Given the description of an element on the screen output the (x, y) to click on. 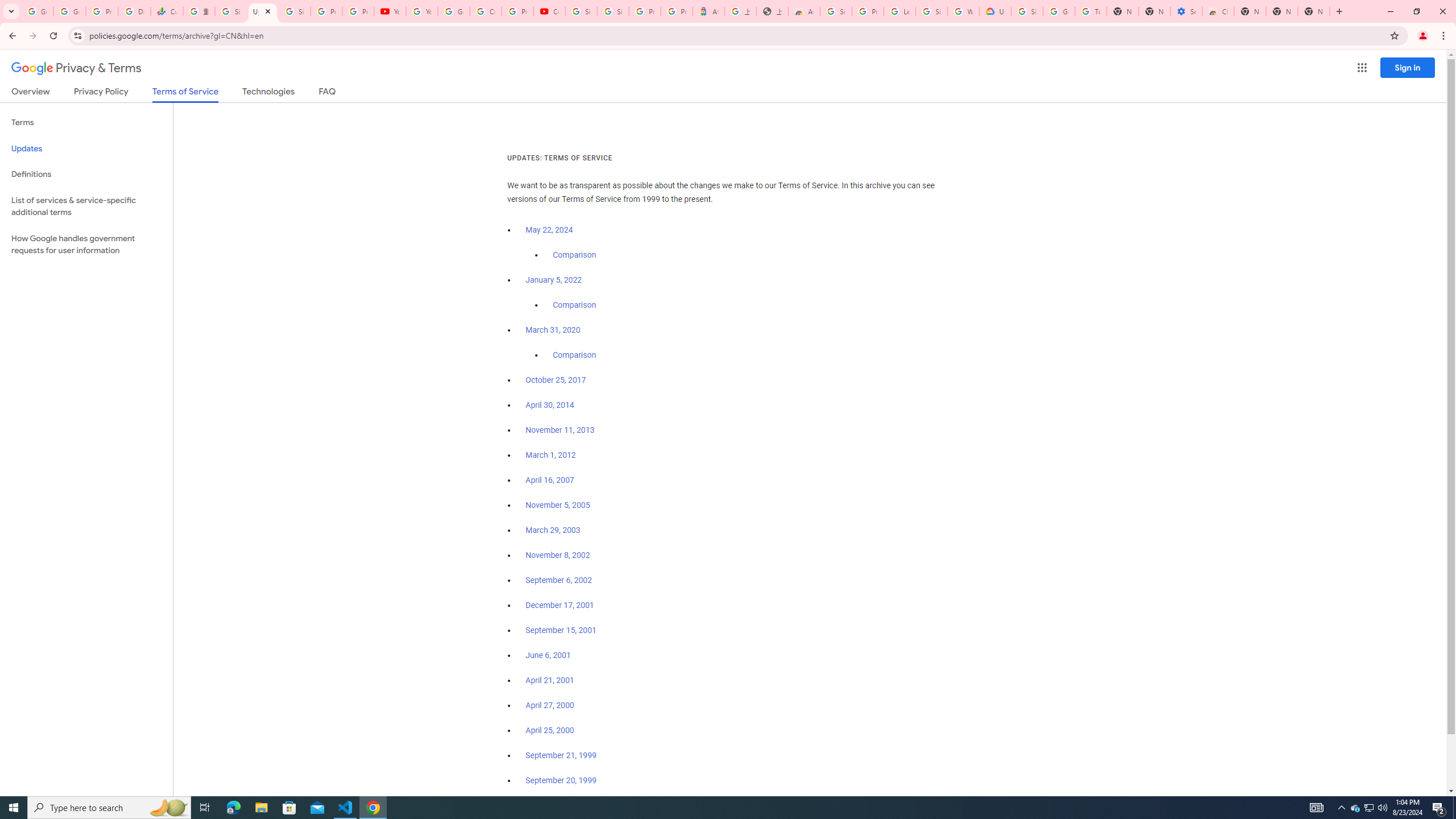
YouTube (389, 11)
New Tab (1249, 11)
Sign in - Google Accounts (230, 11)
September 20, 1999 (560, 780)
December 17, 2001 (559, 605)
Google Account Help (453, 11)
June 6, 2001 (547, 655)
April 21, 2001 (550, 679)
